Given the description of an element on the screen output the (x, y) to click on. 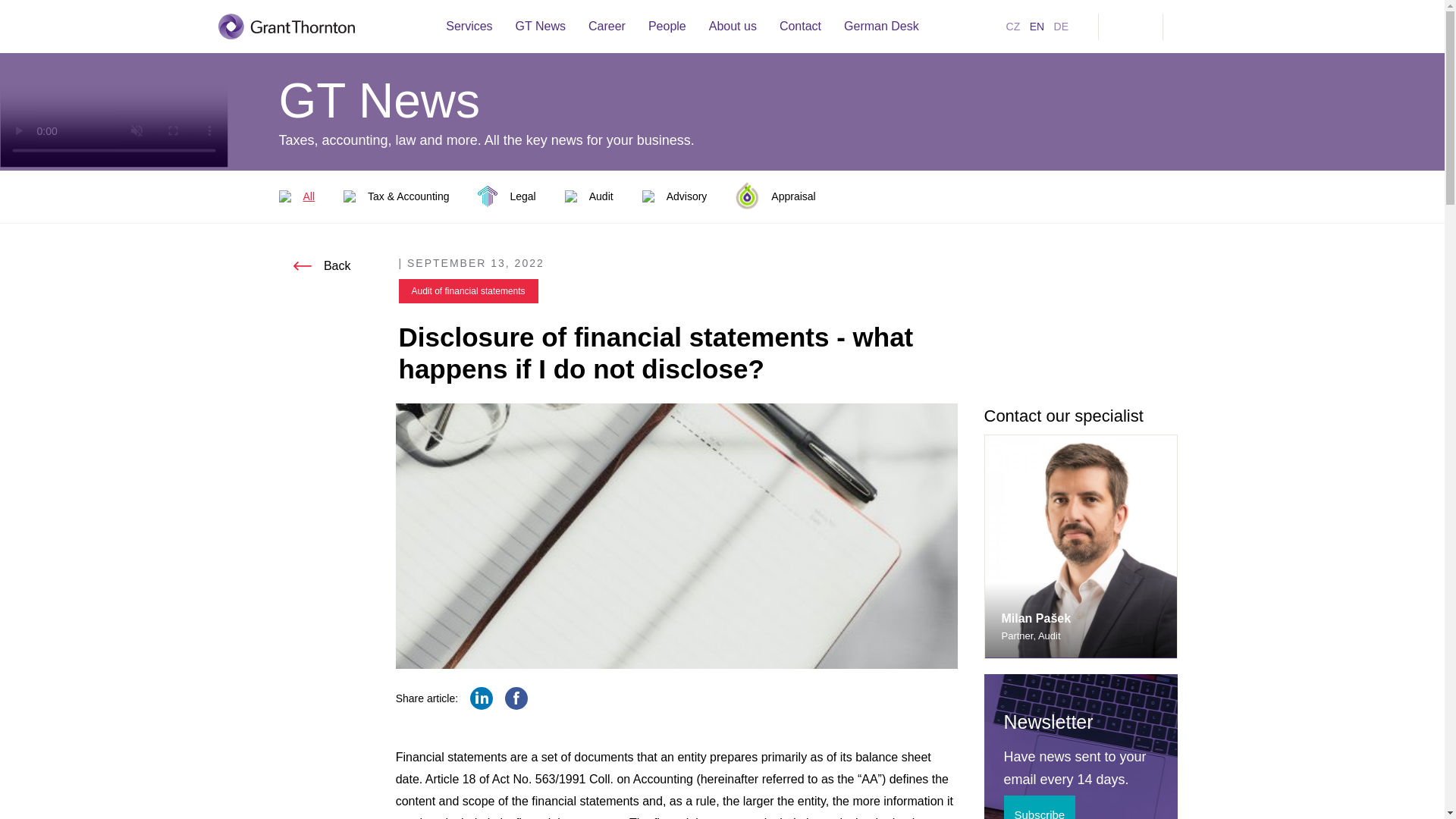
Services (468, 26)
